Given the description of an element on the screen output the (x, y) to click on. 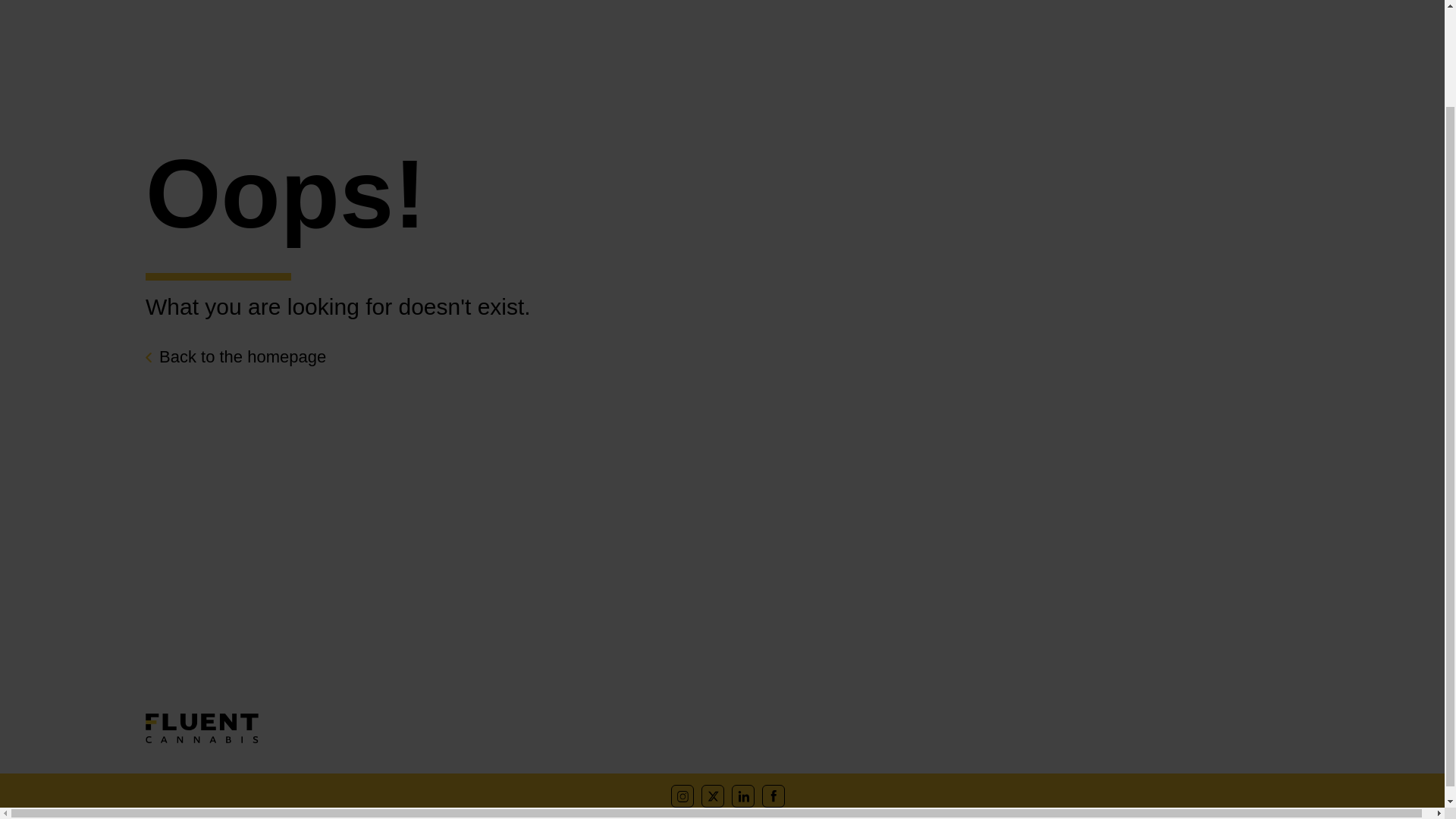
Twitter (712, 795)
Twitter (712, 795)
LinkedIn (743, 795)
Facebook (772, 795)
Instagram (682, 795)
Instagram (682, 795)
Back to the homepage (235, 356)
LinkedIn (743, 795)
Facebook (772, 795)
